Given the description of an element on the screen output the (x, y) to click on. 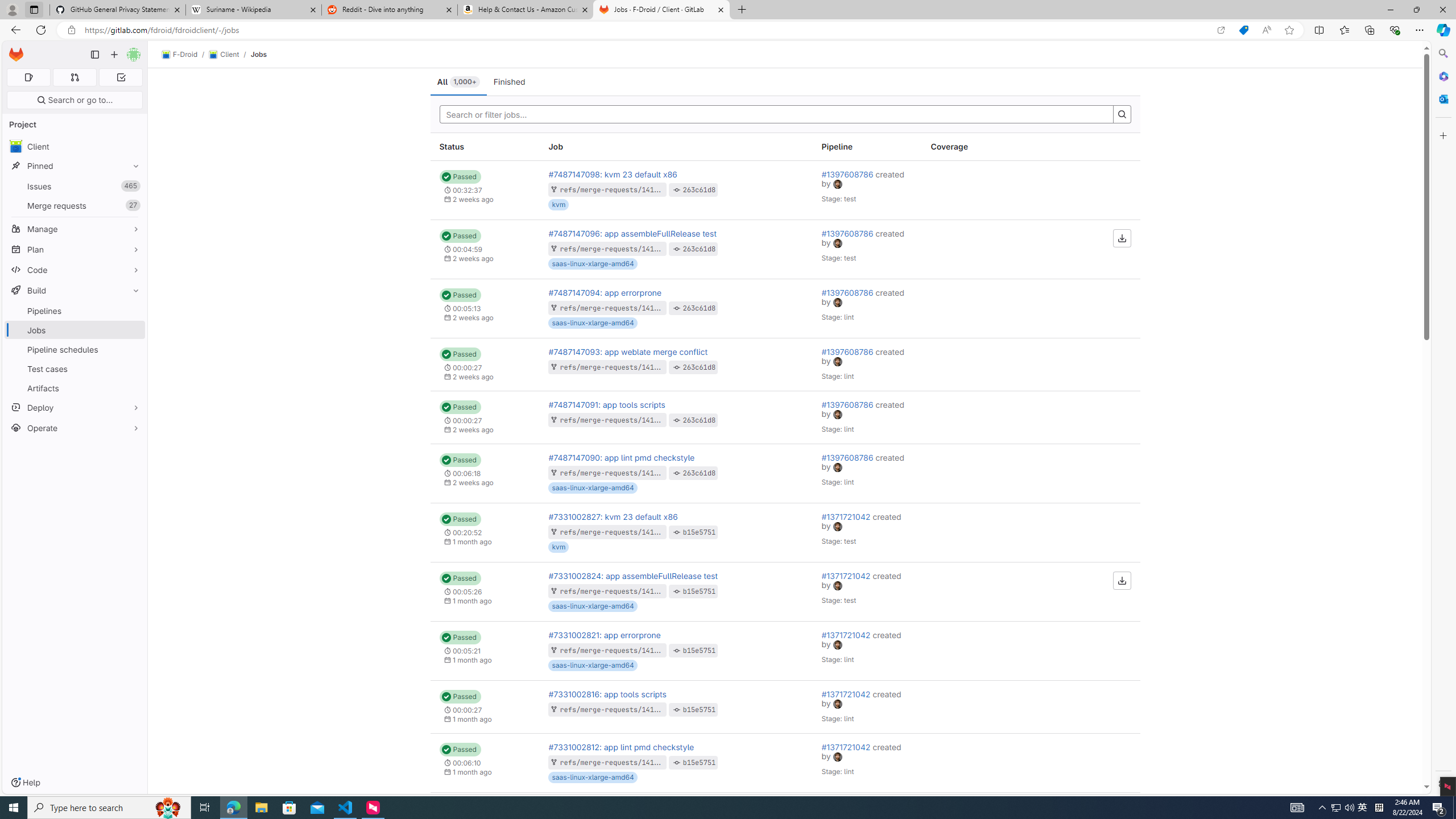
Status (484, 146)
Code (74, 269)
Merge requests 27 (74, 205)
Pipeline (866, 146)
Pin Jobs (132, 329)
Open in app (1220, 29)
Status: Passed 00:20:52 1 month ago (484, 532)
Status: Passed 00:00:27 2 weeks ago (484, 416)
#1397608786 created by avatar Stage: lint (866, 473)
#1371721042  (847, 746)
